Given the description of an element on the screen output the (x, y) to click on. 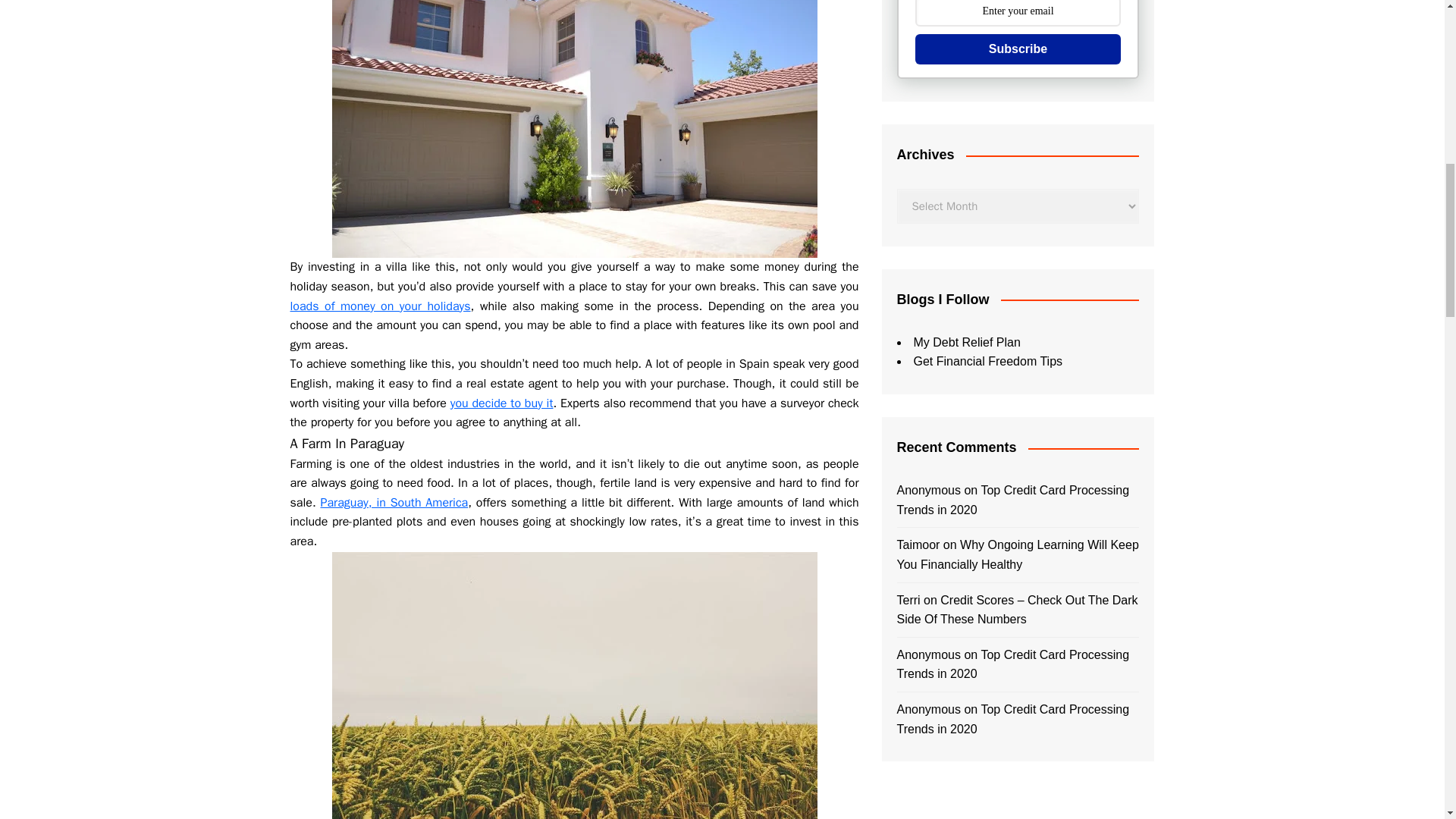
loads of money on your holidays (379, 305)
Exploring Investments In International Property (573, 685)
Exploring Investments In International Property (573, 128)
